Given the description of an element on the screen output the (x, y) to click on. 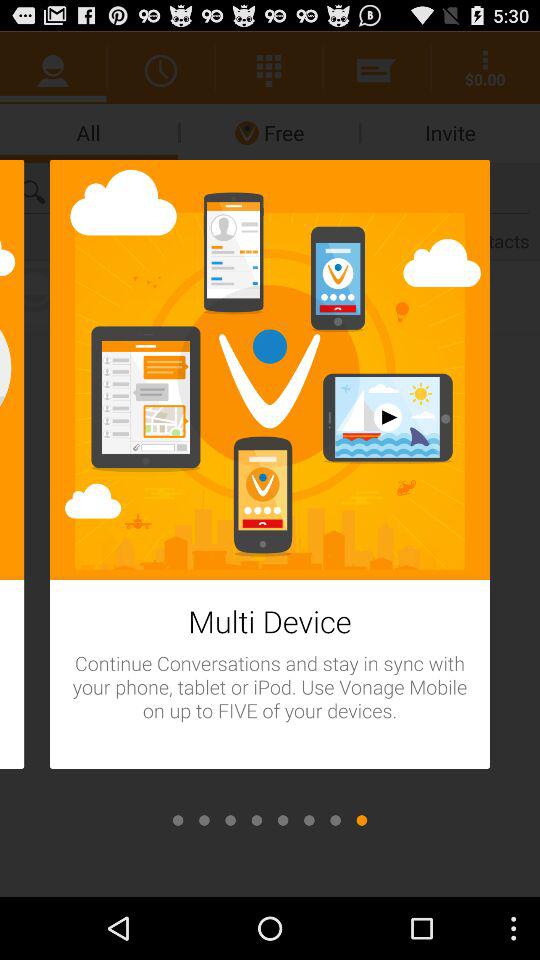
next available screen (361, 820)
